Given the description of an element on the screen output the (x, y) to click on. 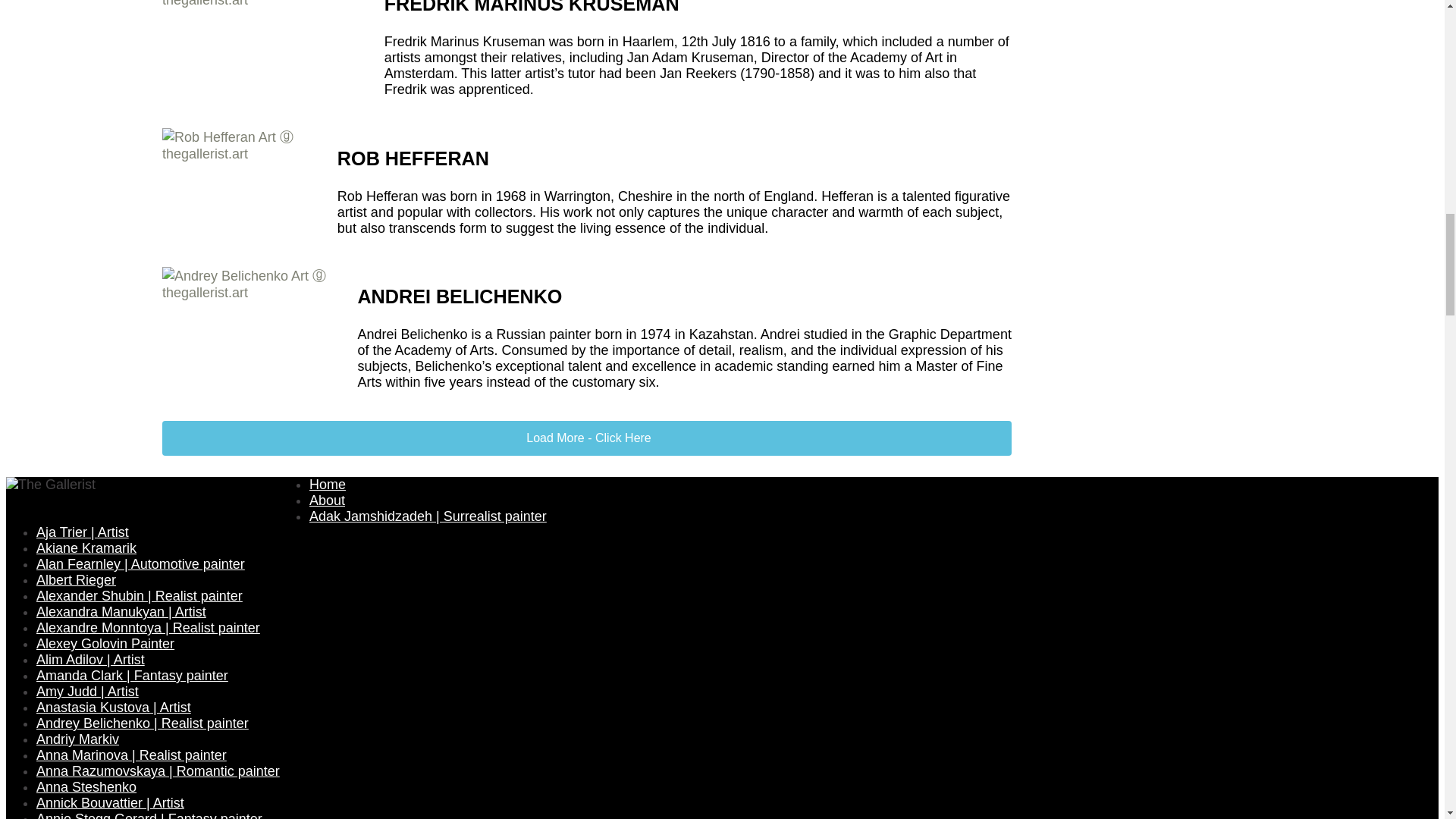
ROB HEFFERAN (413, 158)
FREDRIK MARINUS KRUSEMAN (531, 7)
